Given the description of an element on the screen output the (x, y) to click on. 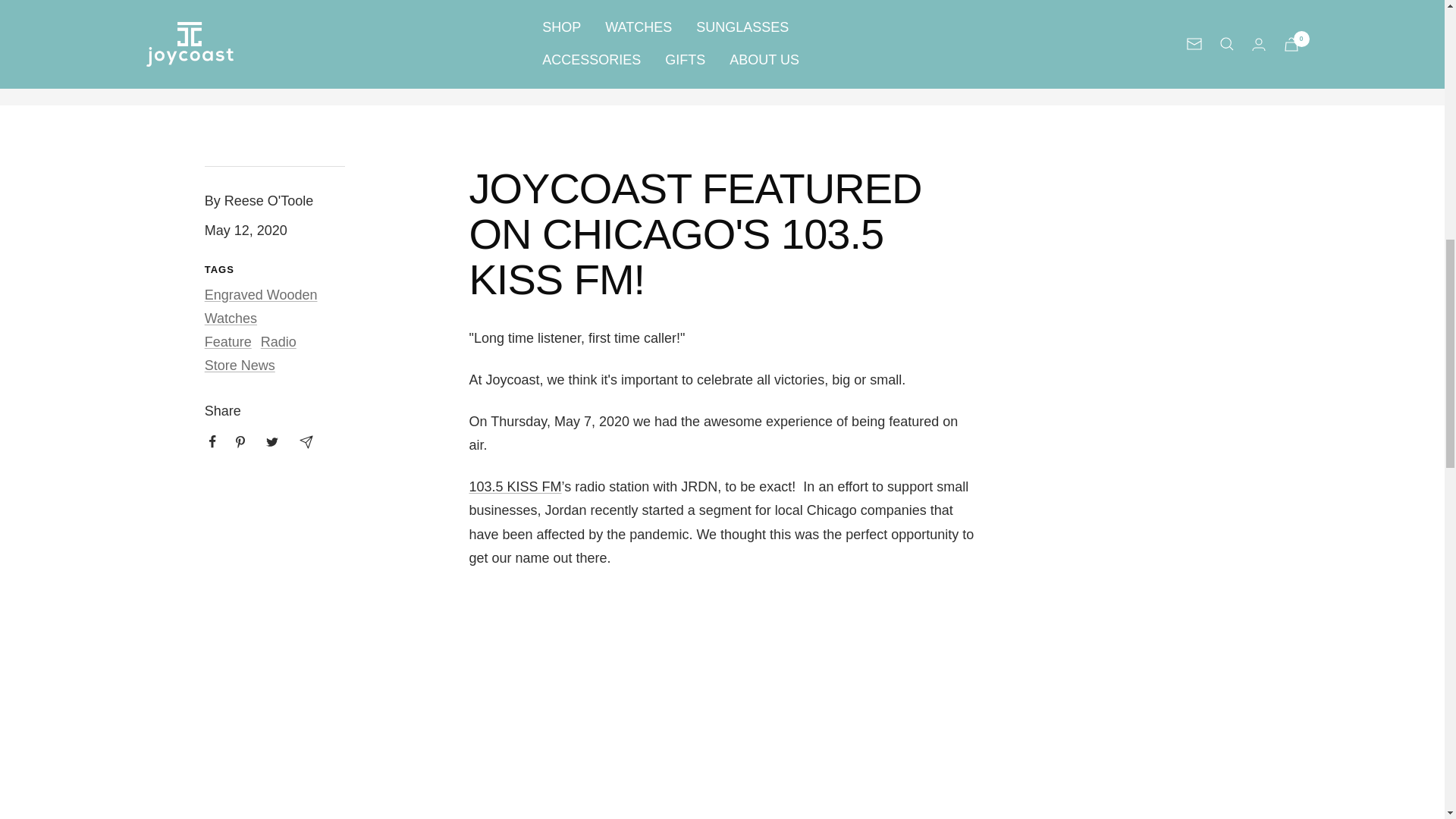
103.5 KISS FM Radio (514, 486)
Engraved Wooden Watches (261, 306)
103.5 KISS FM (514, 486)
Store News (240, 365)
Feature (228, 341)
Radio (278, 341)
